Given the description of an element on the screen output the (x, y) to click on. 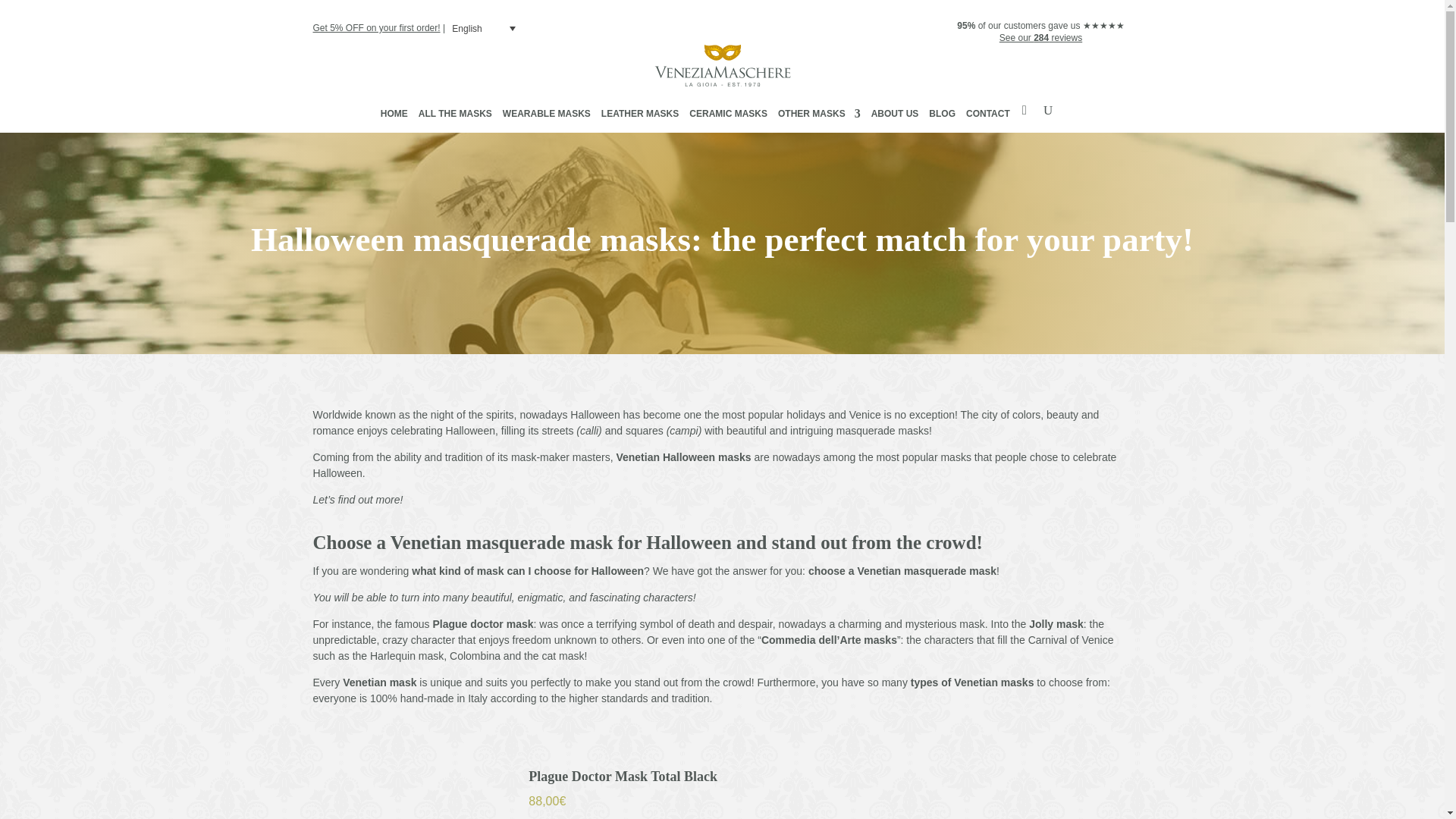
CERAMIC MASKS (727, 116)
BLOG (941, 116)
English (484, 28)
LEATHER MASKS (639, 116)
See our 284 reviews (1039, 37)
ALL THE MASKS (455, 116)
Logo-Venezia-Maschere-La-gioia (721, 65)
ABOUT US (894, 116)
HOME (393, 116)
CONTACT (988, 116)
